Given the description of an element on the screen output the (x, y) to click on. 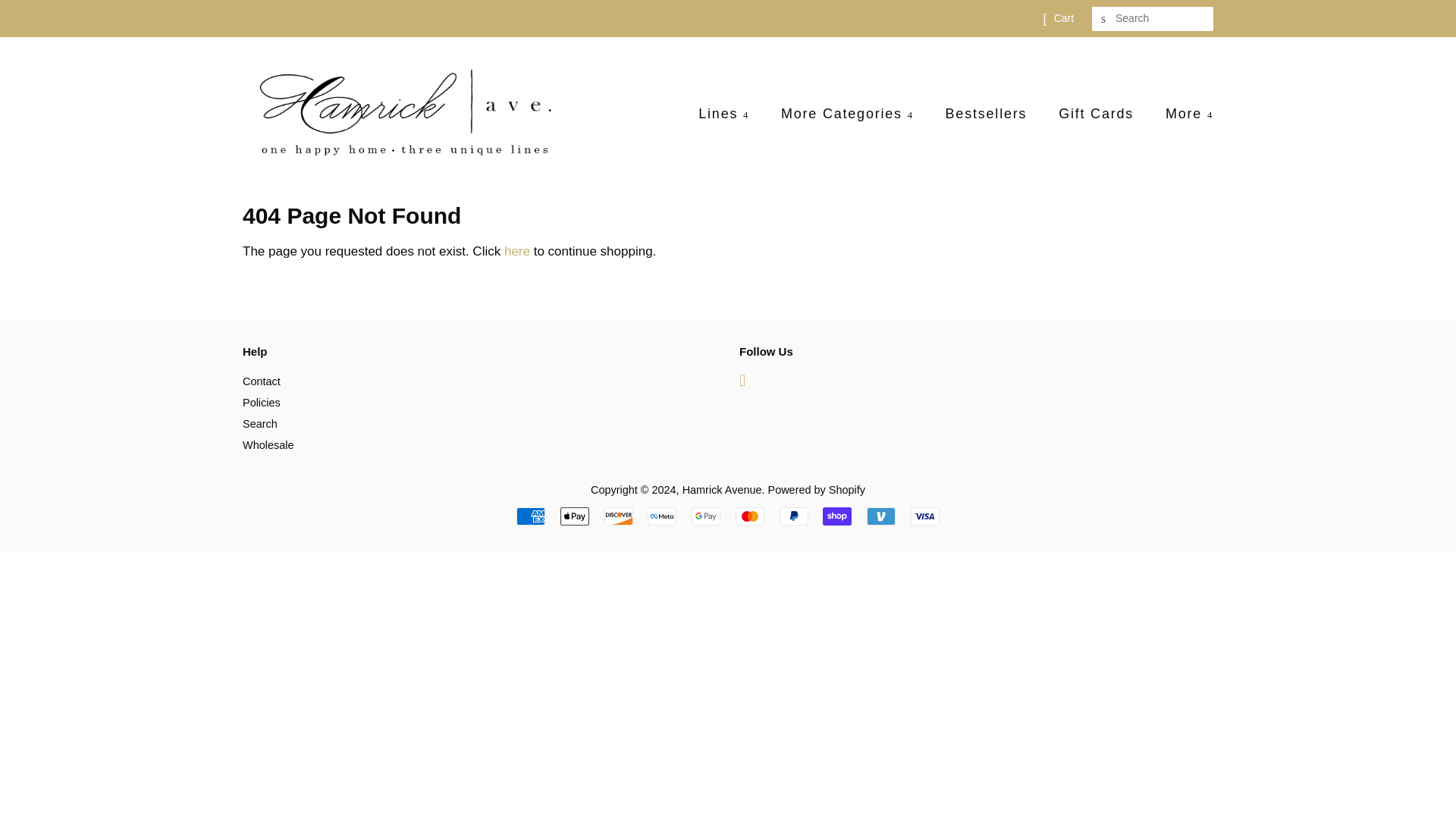
Venmo (880, 515)
Cart (1064, 18)
Visa (925, 515)
Shop Pay (836, 515)
Google Pay (705, 515)
Apple Pay (574, 515)
American Express (530, 515)
Mastercard (749, 515)
Search (1104, 18)
Discover (618, 515)
